Given the description of an element on the screen output the (x, y) to click on. 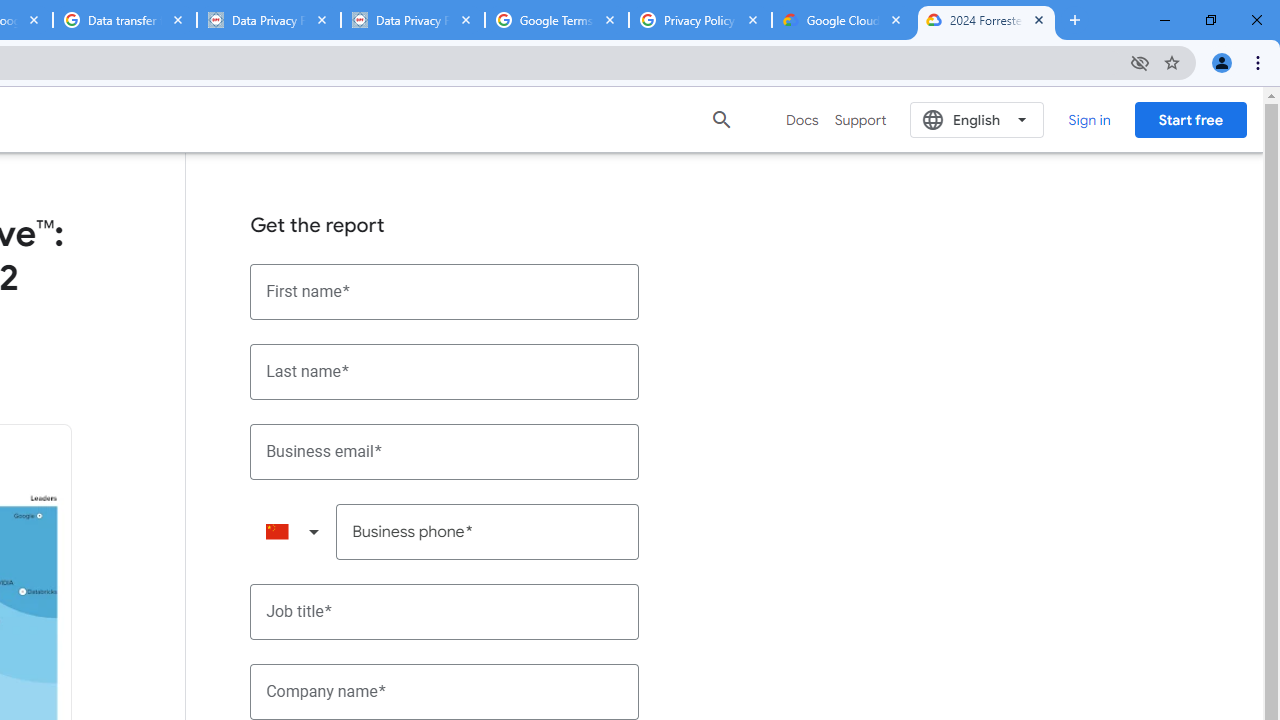
Google Cloud Privacy Notice (843, 20)
Last name* (445, 371)
Data Privacy Framework (268, 20)
Docs (802, 119)
Business email* (445, 451)
First name* (445, 291)
